Given the description of an element on the screen output the (x, y) to click on. 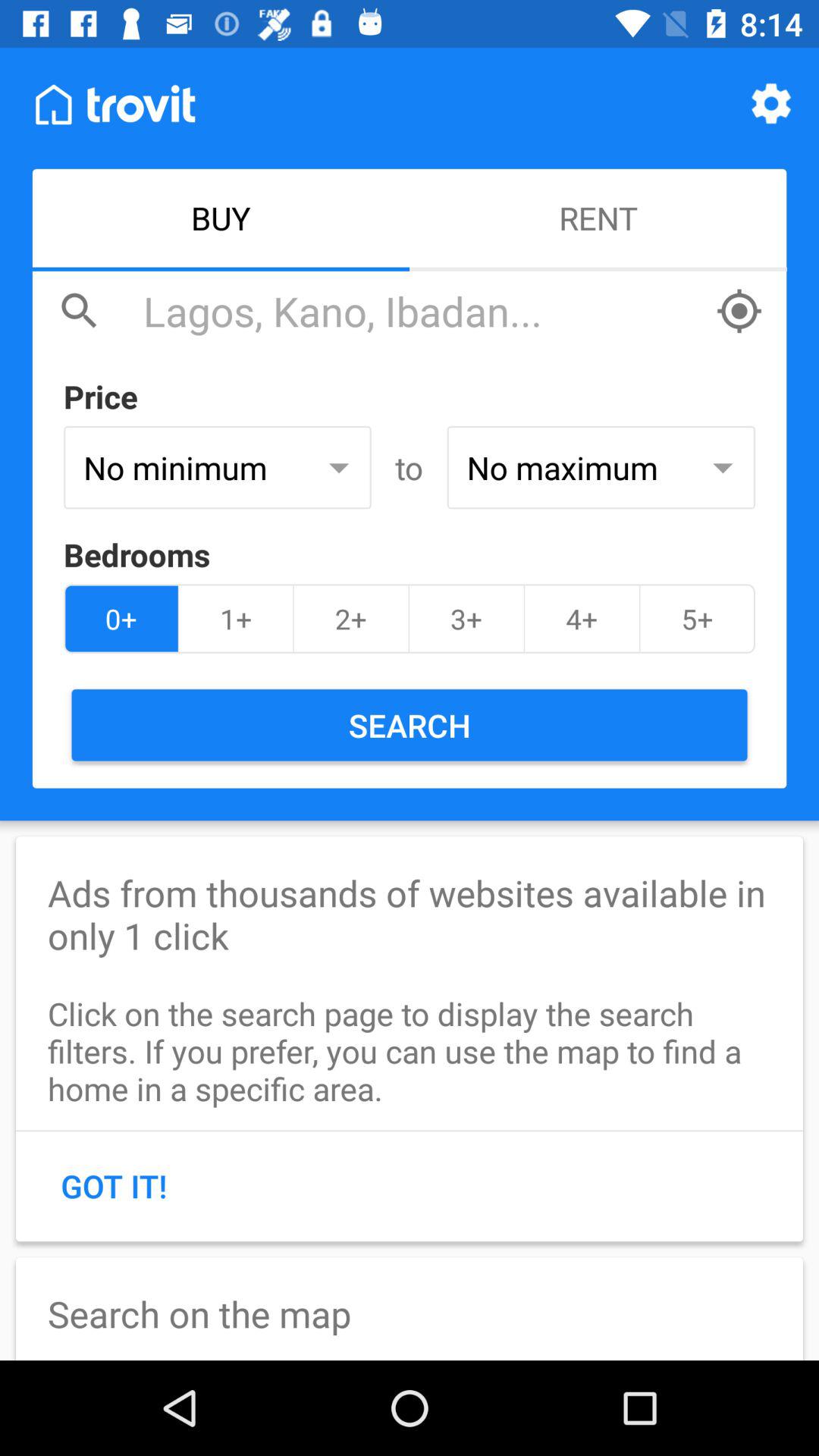
click item below bedrooms icon (350, 618)
